Given the description of an element on the screen output the (x, y) to click on. 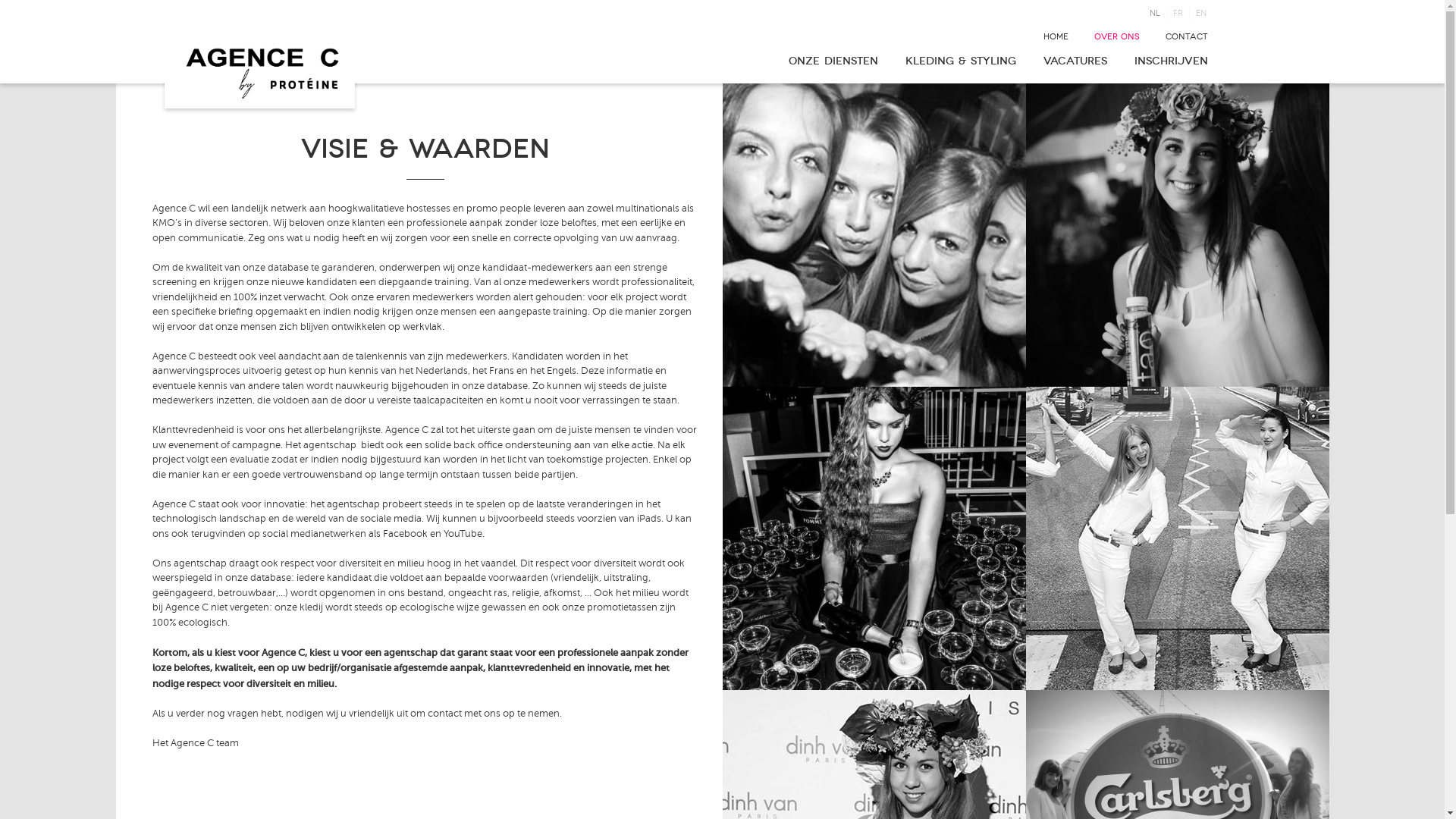
NL Element type: text (1154, 12)
OVER ONS Element type: text (1115, 36)
VACATURES Element type: text (1074, 61)
HOME Element type: text (1055, 36)
KLEDING & STYLING Element type: text (960, 61)
EN Element type: text (1200, 12)
ONZE DIENSTEN Element type: text (833, 61)
CONTACT Element type: text (1185, 36)
FR Element type: text (1177, 12)
INSCHRIJVEN Element type: text (1170, 61)
